Given the description of an element on the screen output the (x, y) to click on. 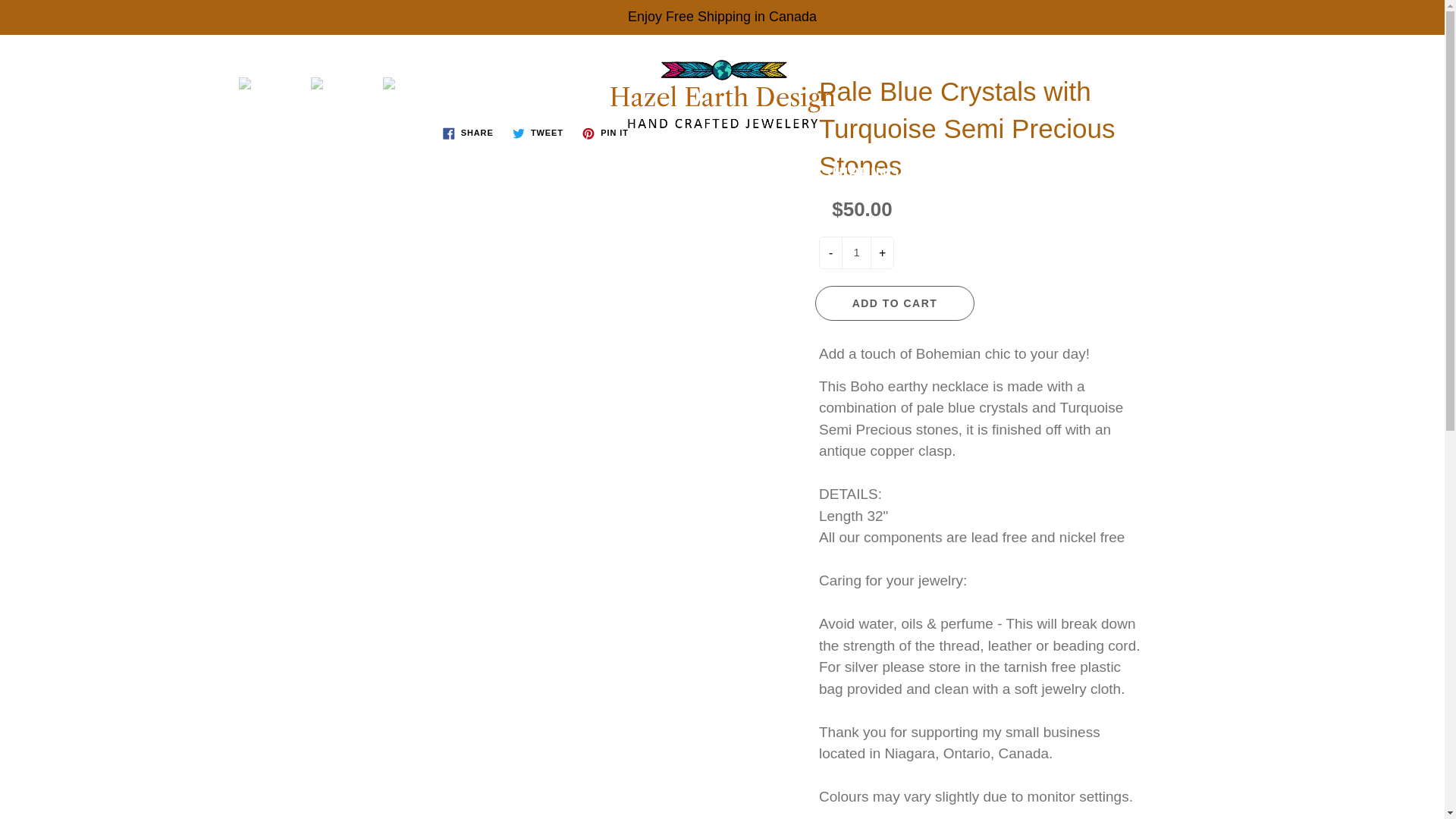
Pale Blue Crystals with Turquoise Semi Precious Stones (414, 82)
1 (855, 252)
EVENTS (1016, 172)
Pale Blue Crystals with Turquoise Semi Precious Stones (343, 82)
Pin on Pinterest (604, 133)
SHOP (513, 172)
You have 0 items in your cart (1417, 60)
Pale Blue Crystals with Turquoise Semi Precious Stones (270, 82)
Share on Facebook (467, 133)
Tweet on Twitter (537, 133)
